Given the description of an element on the screen output the (x, y) to click on. 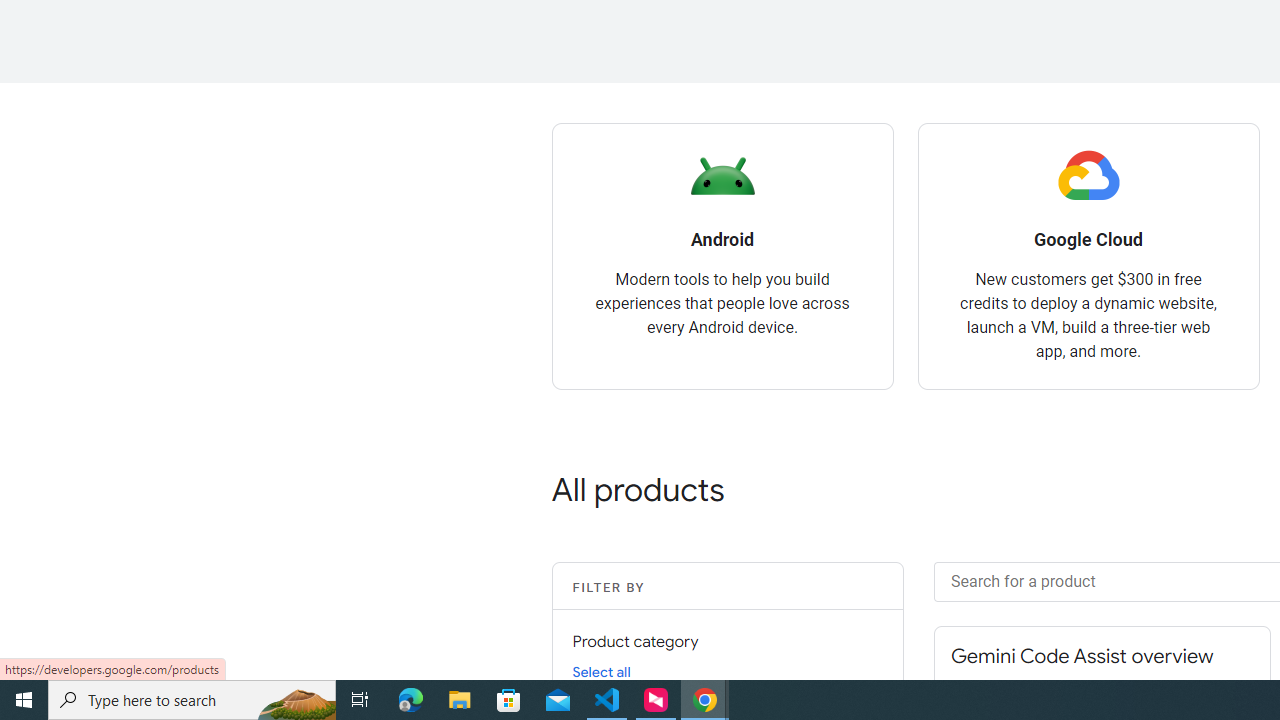
Google Cloud logo (1088, 176)
Android logo (722, 176)
Select all (601, 671)
